Given the description of an element on the screen output the (x, y) to click on. 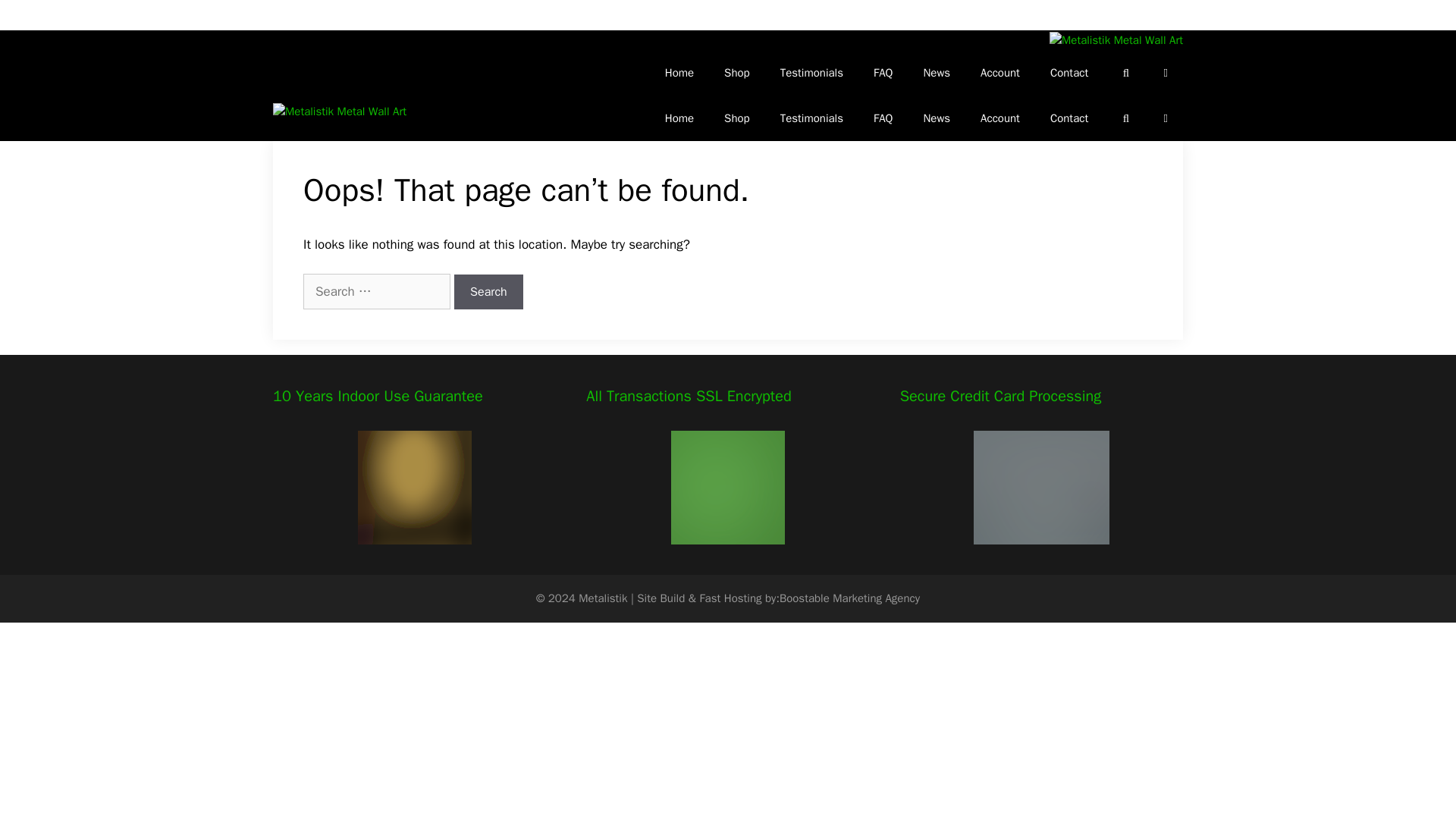
Shop (737, 117)
Search (488, 291)
Home (679, 72)
FAQ (883, 117)
Shop (737, 72)
Contact (1069, 72)
News (936, 117)
Contact (1069, 117)
News (936, 72)
Account (1000, 72)
